Given the description of an element on the screen output the (x, y) to click on. 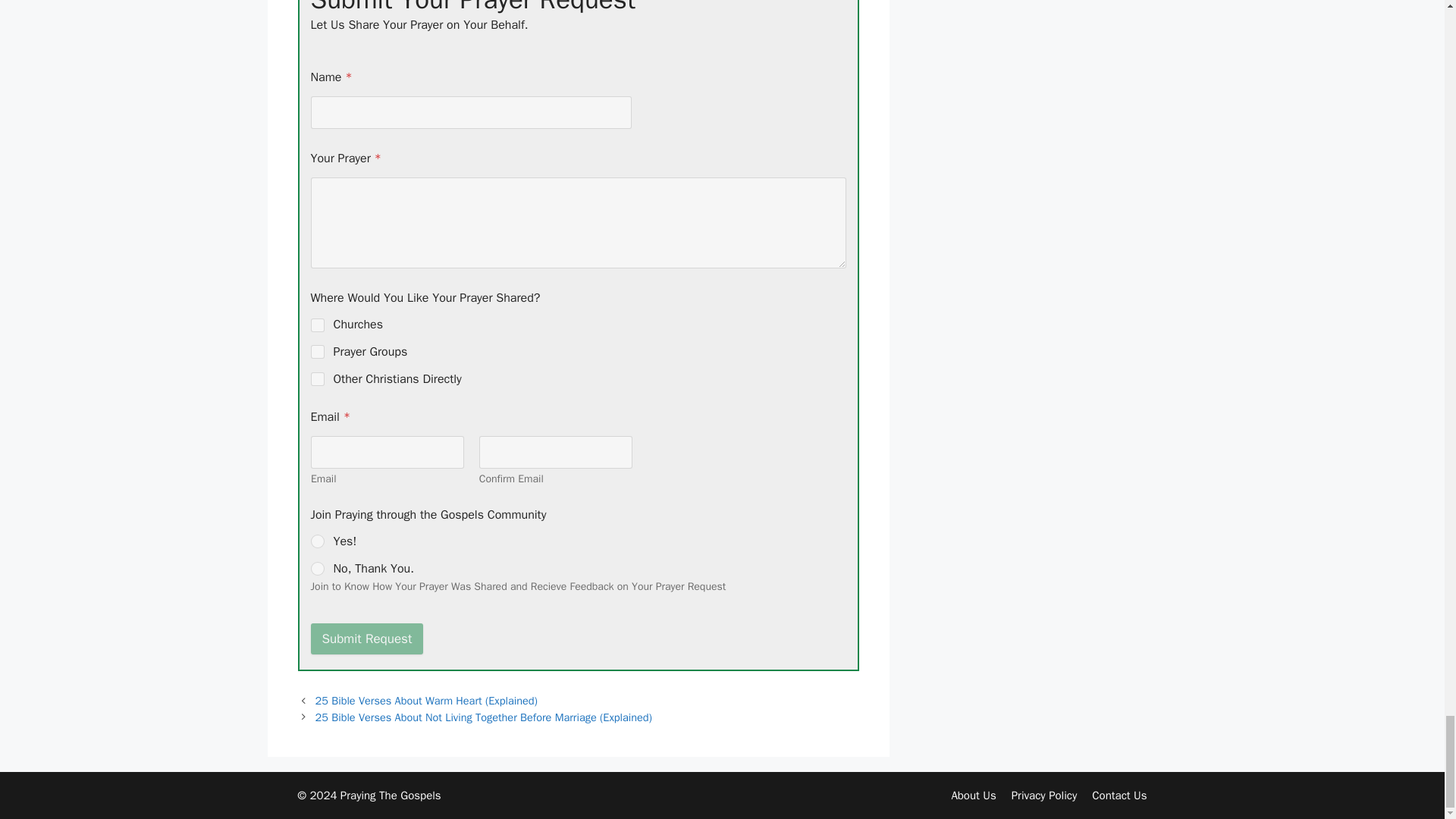
Contact Us (1119, 795)
Submit Request (367, 638)
Yes! (318, 541)
About Us (972, 795)
No, Thank You. (318, 568)
Privacy Policy (1044, 795)
Prayer Groups (318, 351)
Other Christians Directly (318, 378)
Churches (318, 325)
